Given the description of an element on the screen output the (x, y) to click on. 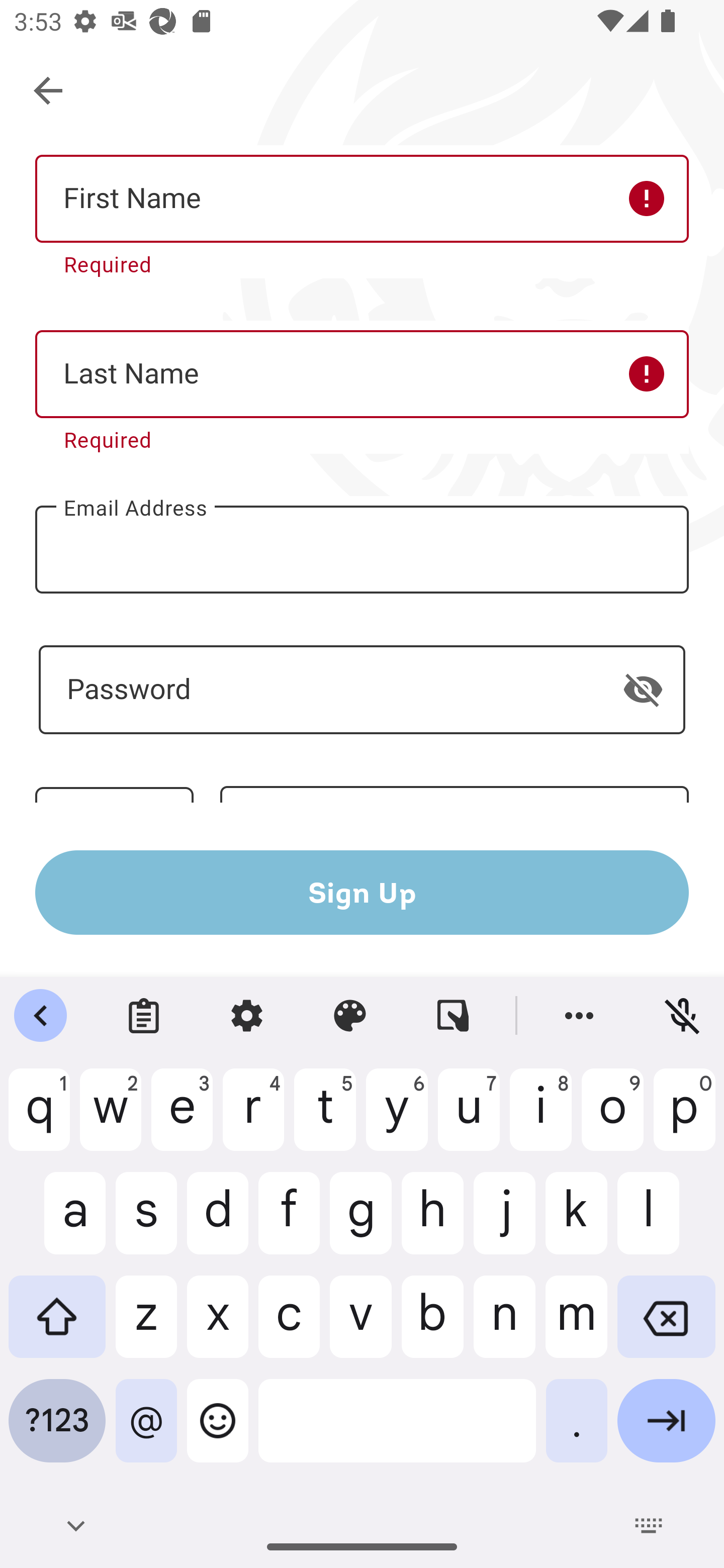
Navigate up (49, 91)
First Name - Required (361, 199)
Last Name - Required (361, 374)
Email Address - Required (361, 549)
- Required (361, 689)
Show password (642, 689)
Sign Up (361, 891)
